Given the description of an element on the screen output the (x, y) to click on. 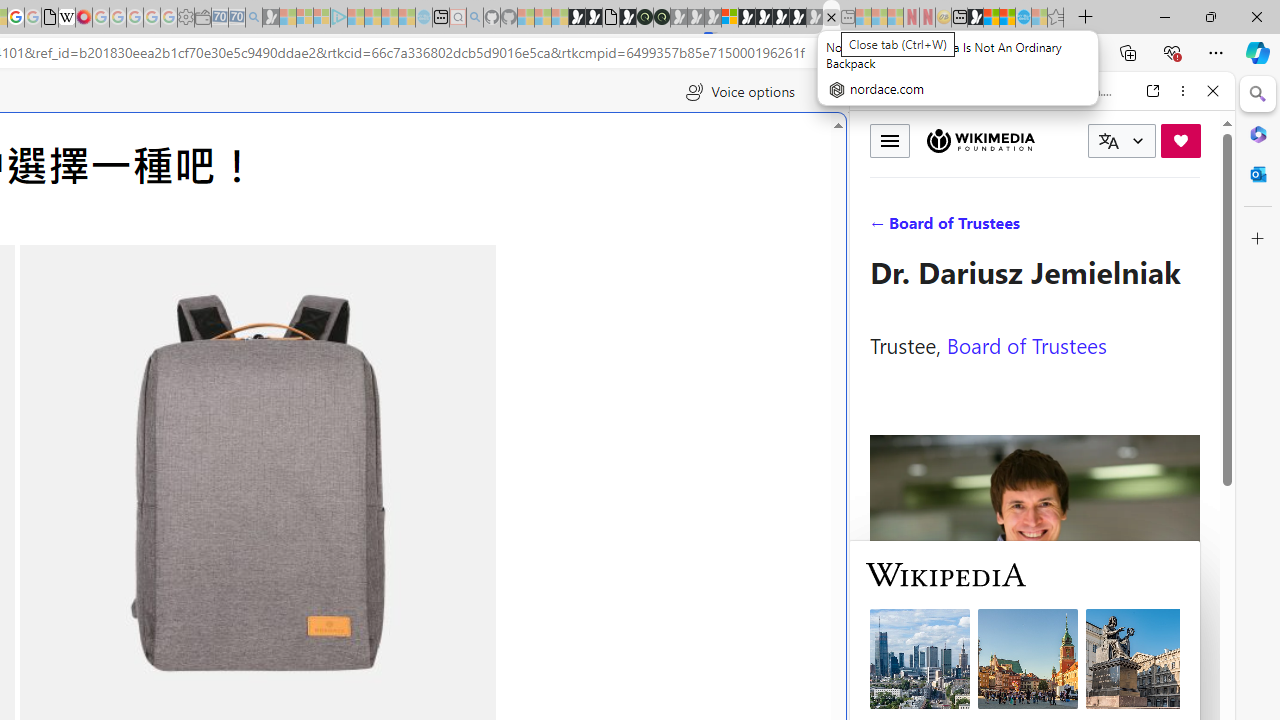
Sign in to your account (729, 17)
Board of Trustees (1026, 344)
Wikimedia Foundation (980, 141)
This site has coupons! Shopping in Microsoft Edge (906, 53)
Wiktionary (1034, 669)
wikimediafoundation.org (1045, 90)
Toggle menu (890, 140)
